Given the description of an element on the screen output the (x, y) to click on. 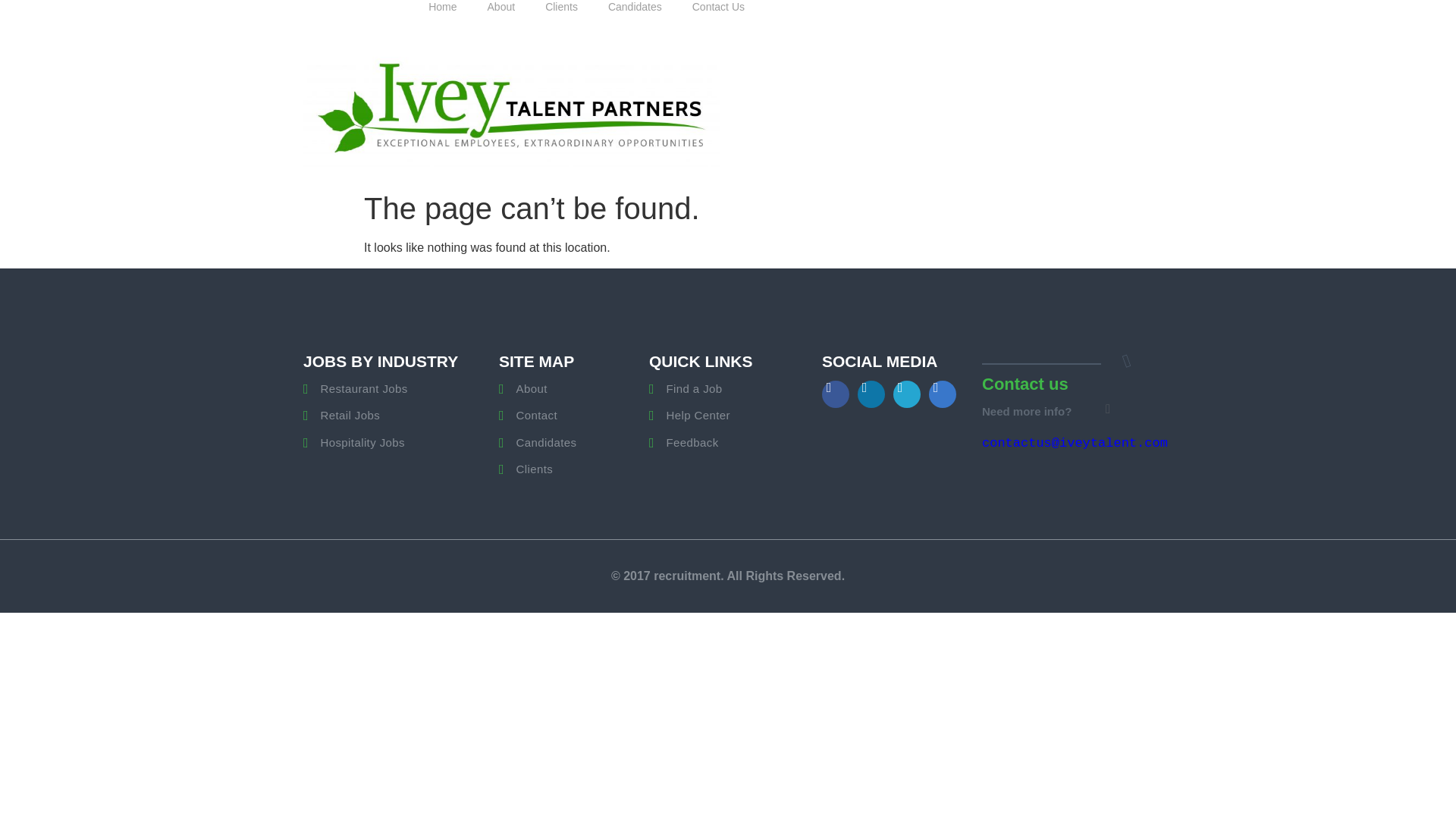
Contact (566, 416)
Candidates (634, 12)
Need more info? (1026, 410)
Clients (566, 469)
Find a Job (727, 389)
Candidates (566, 443)
Retail Jobs (381, 416)
Restaurant Jobs (381, 389)
Contact Us (718, 12)
Hospitality Jobs (381, 443)
